Given the description of an element on the screen output the (x, y) to click on. 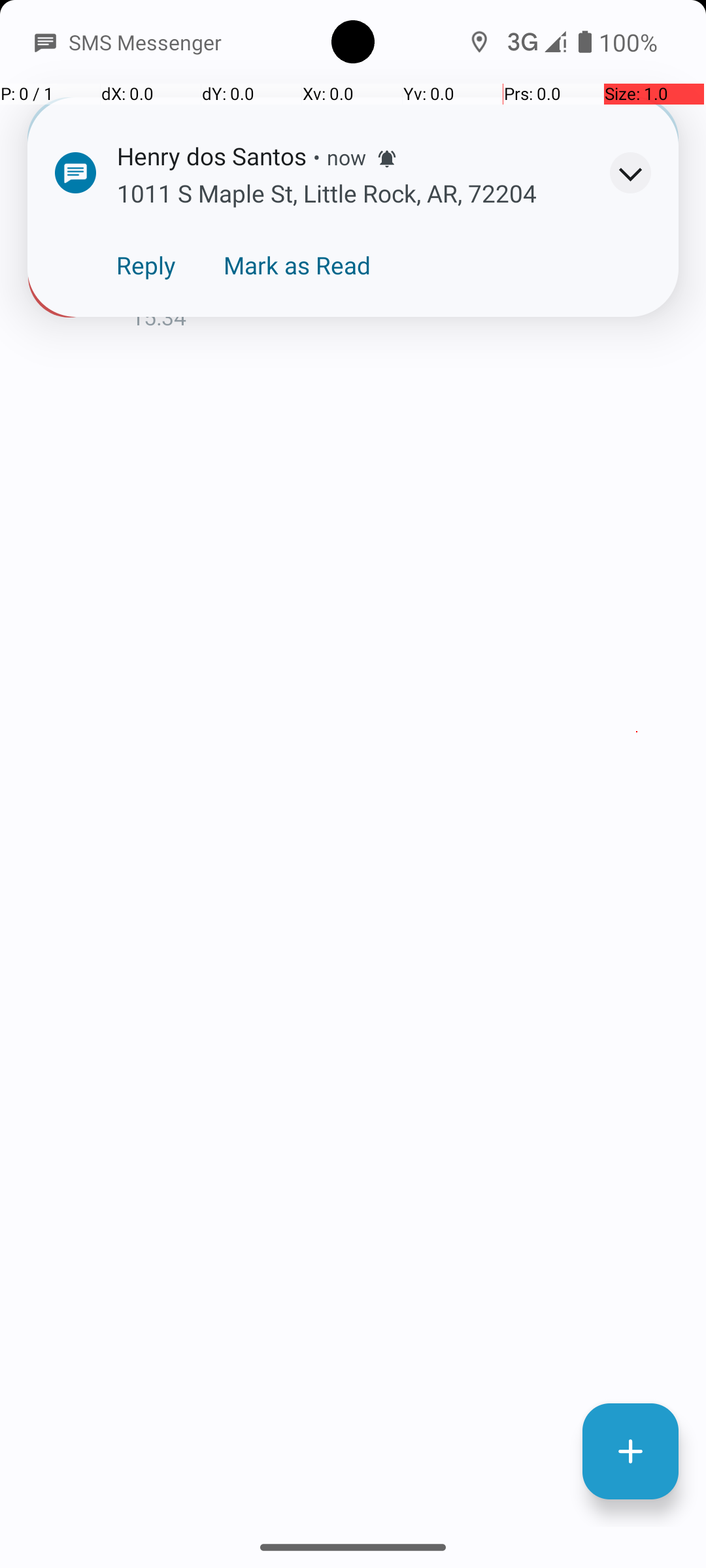
Henry dos Santos Element type: android.widget.TextView (408, 242)
1011 S Maple St, Little Rock, AR, 72204 Element type: android.widget.TextView (408, 281)
On Element type: android.widget.Switch (186, 40)
Off Element type: android.widget.Switch (518, 40)
Expand Element type: android.widget.Button (630, 172)
Reply Element type: android.widget.Button (146, 265)
Mark as Read Element type: android.widget.Button (296, 265)
• Element type: android.widget.TextView (316, 157)
now Element type: android.widget.TextView (346, 157)
Alerted Element type: android.widget.ImageView (386, 158)
